Given the description of an element on the screen output the (x, y) to click on. 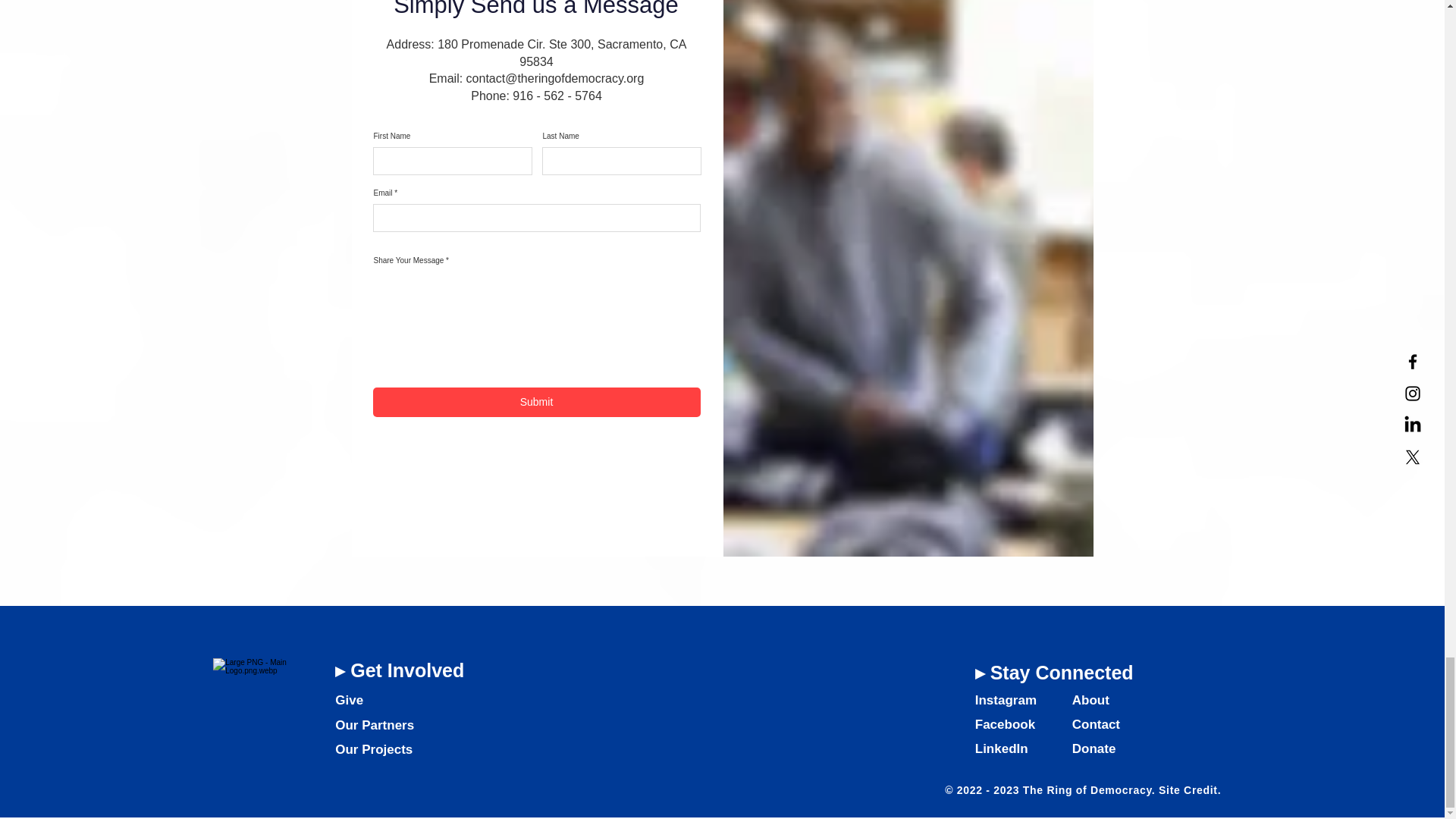
About (1090, 699)
LinkedIn (1001, 748)
Instagram (1005, 699)
Our Partners (373, 725)
Contact (1095, 724)
Submit (536, 401)
Facebook (1005, 724)
Donate (1093, 748)
Our Projects (373, 749)
Give (348, 699)
